Given the description of an element on the screen output the (x, y) to click on. 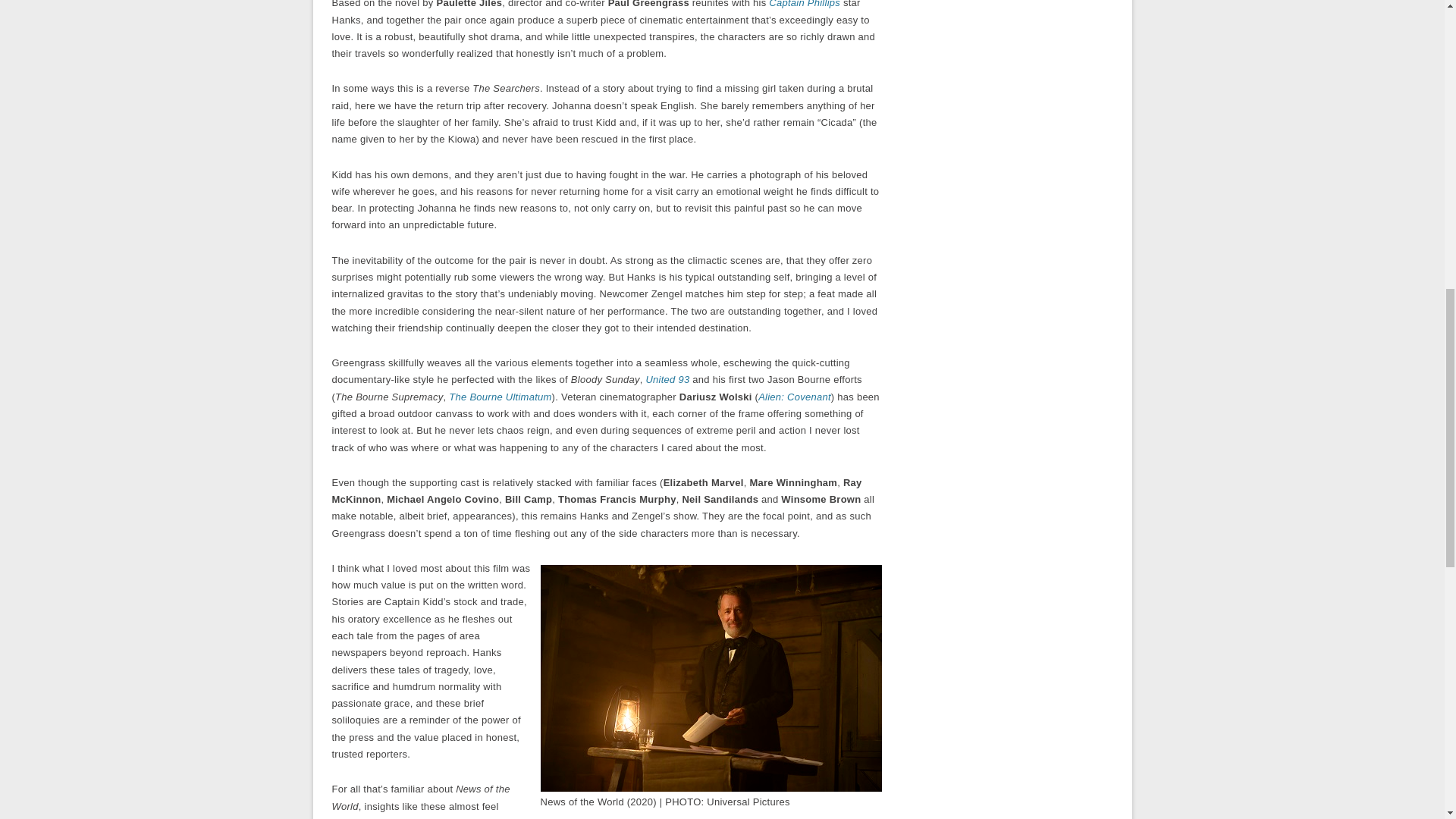
United 93 (666, 378)
Alien: Covenant (794, 396)
Captain Phillips (804, 4)
The Bourne Ultimatum (499, 396)
